Given the description of an element on the screen output the (x, y) to click on. 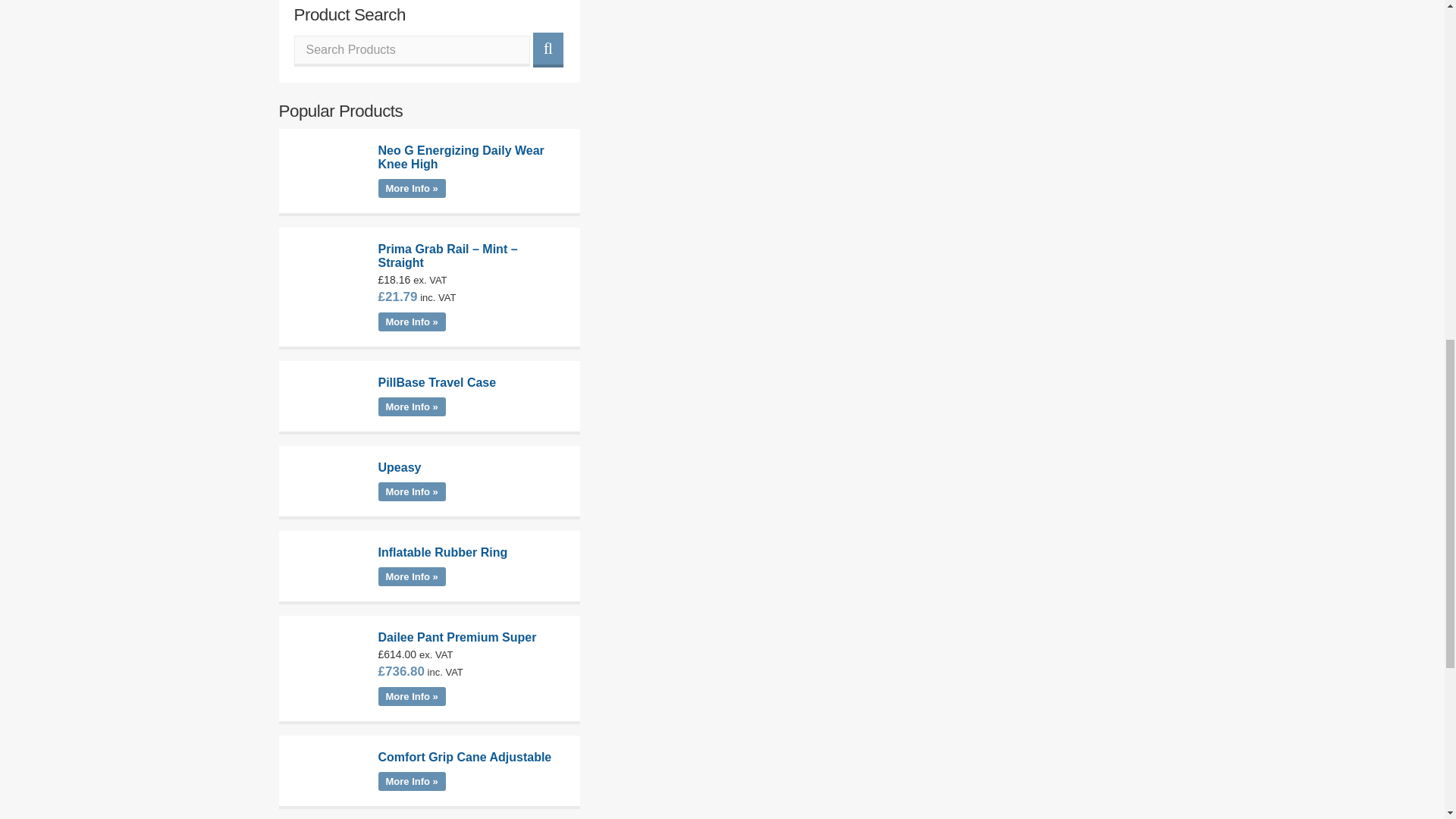
Search Products (411, 50)
